Given the description of an element on the screen output the (x, y) to click on. 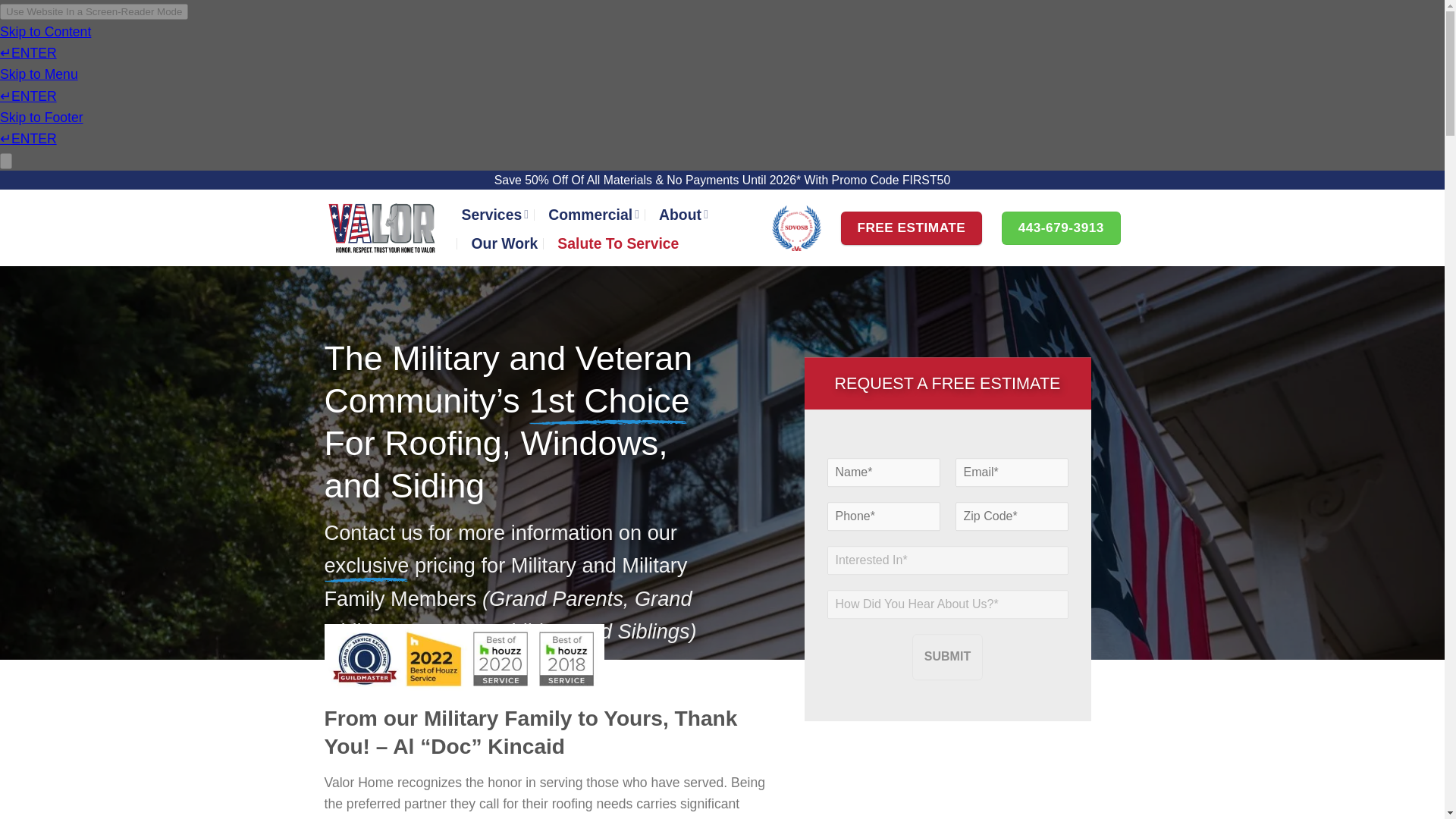
Services (494, 214)
Commercial (593, 214)
443-679-3913 (1061, 227)
SUBMIT (947, 656)
Salute To Service (617, 243)
Our Work (504, 243)
About (683, 214)
FREE ESTIMATE (911, 227)
